Given the description of an element on the screen output the (x, y) to click on. 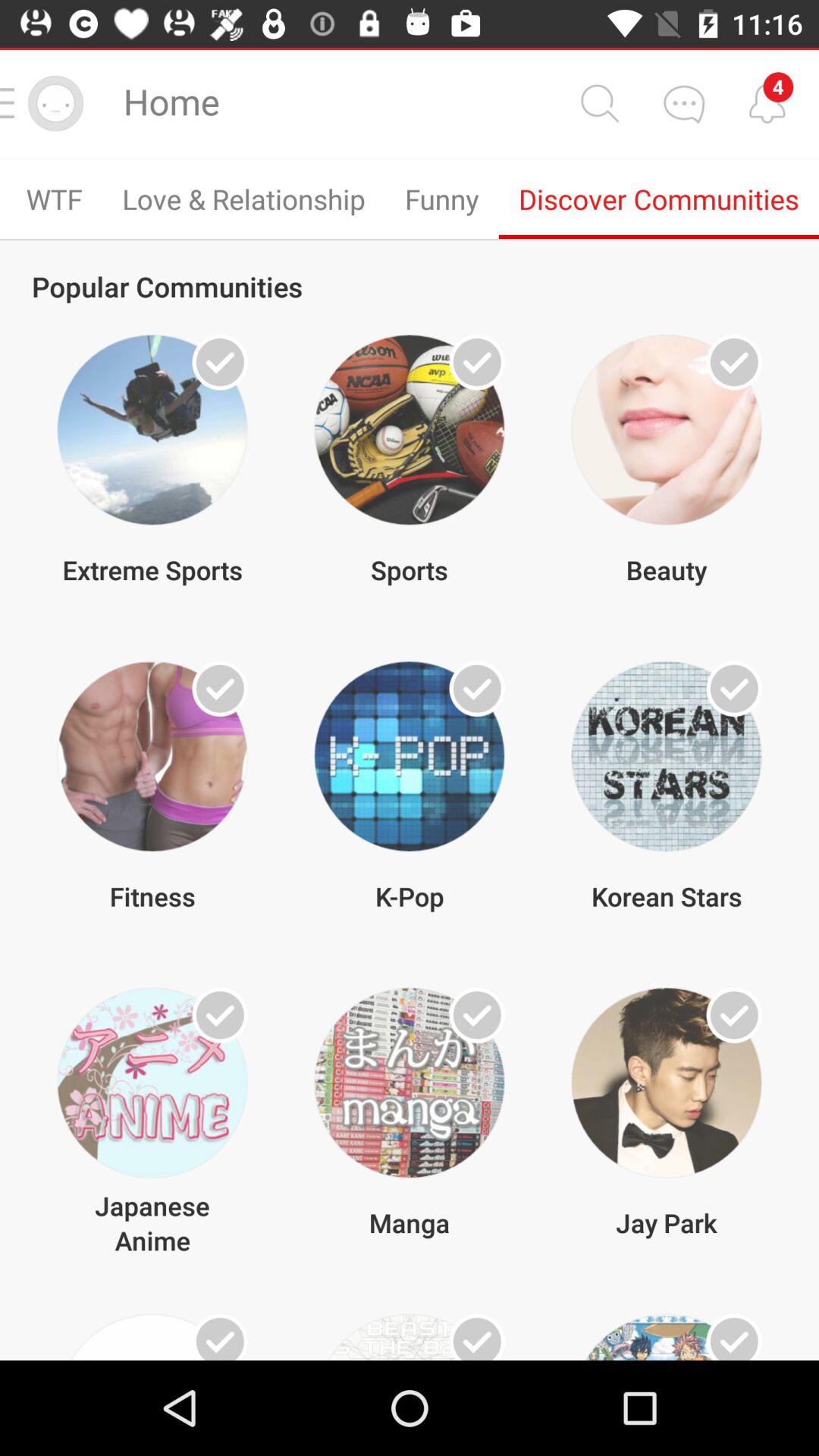
select community (734, 362)
